Given the description of an element on the screen output the (x, y) to click on. 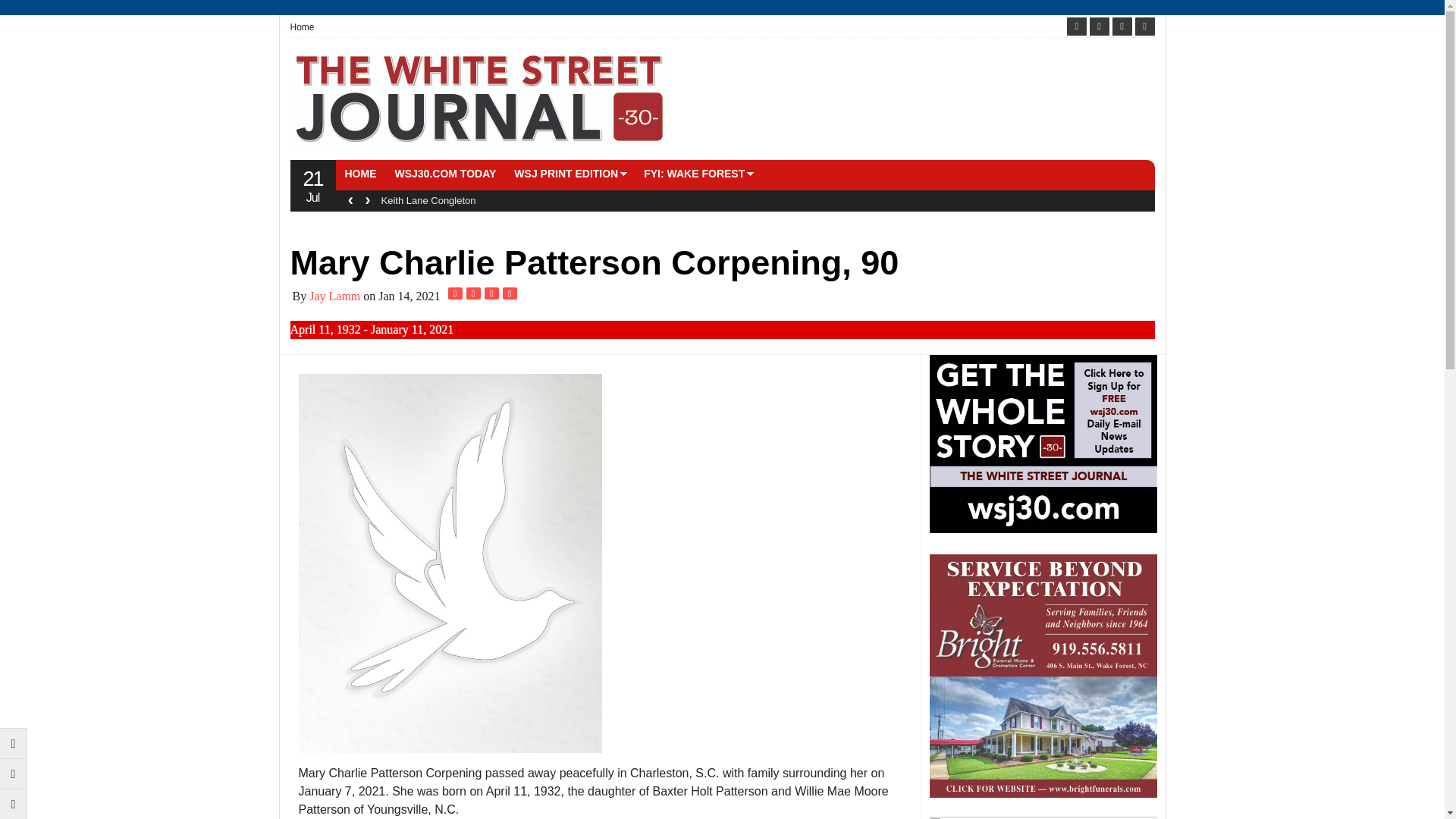
THE WHITE STREET JOURNAL (478, 98)
WSJ PRINT EDITION (566, 173)
WSJ30.COM TODAY (445, 173)
Home (306, 26)
HOME (359, 173)
FYI: WAKE FOREST (694, 173)
Permalink to Keith Lane Congleton (428, 200)
